Given the description of an element on the screen output the (x, y) to click on. 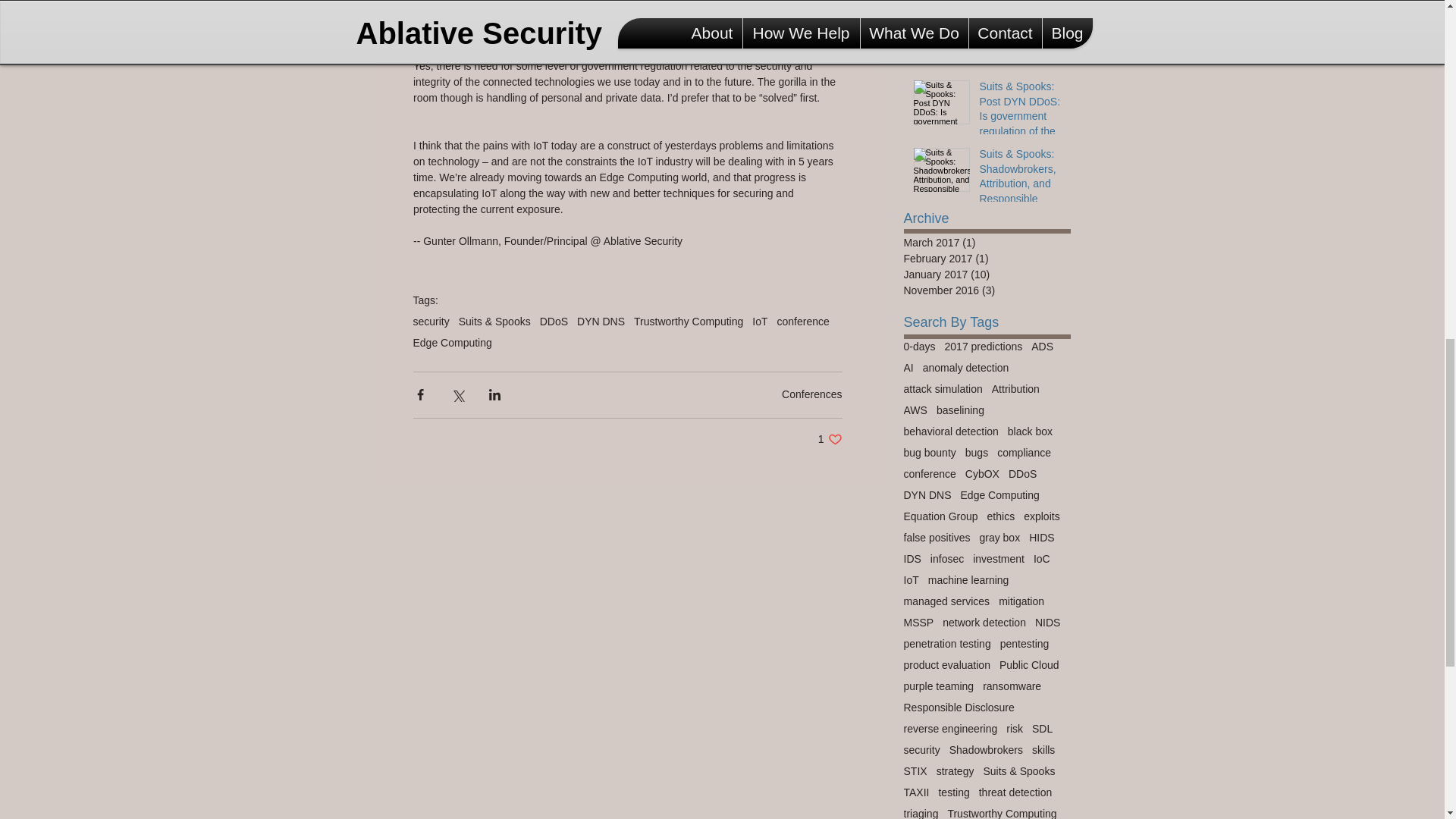
From Anomaly, to Behavior, and on to Learning Systems (1020, 52)
Conferences (830, 439)
Edge Computing (811, 394)
conference (452, 342)
DDoS (802, 321)
IoT (553, 321)
Trustworthy Computing (759, 321)
DYN DNS (687, 321)
security (600, 321)
0-days (430, 321)
